Given the description of an element on the screen output the (x, y) to click on. 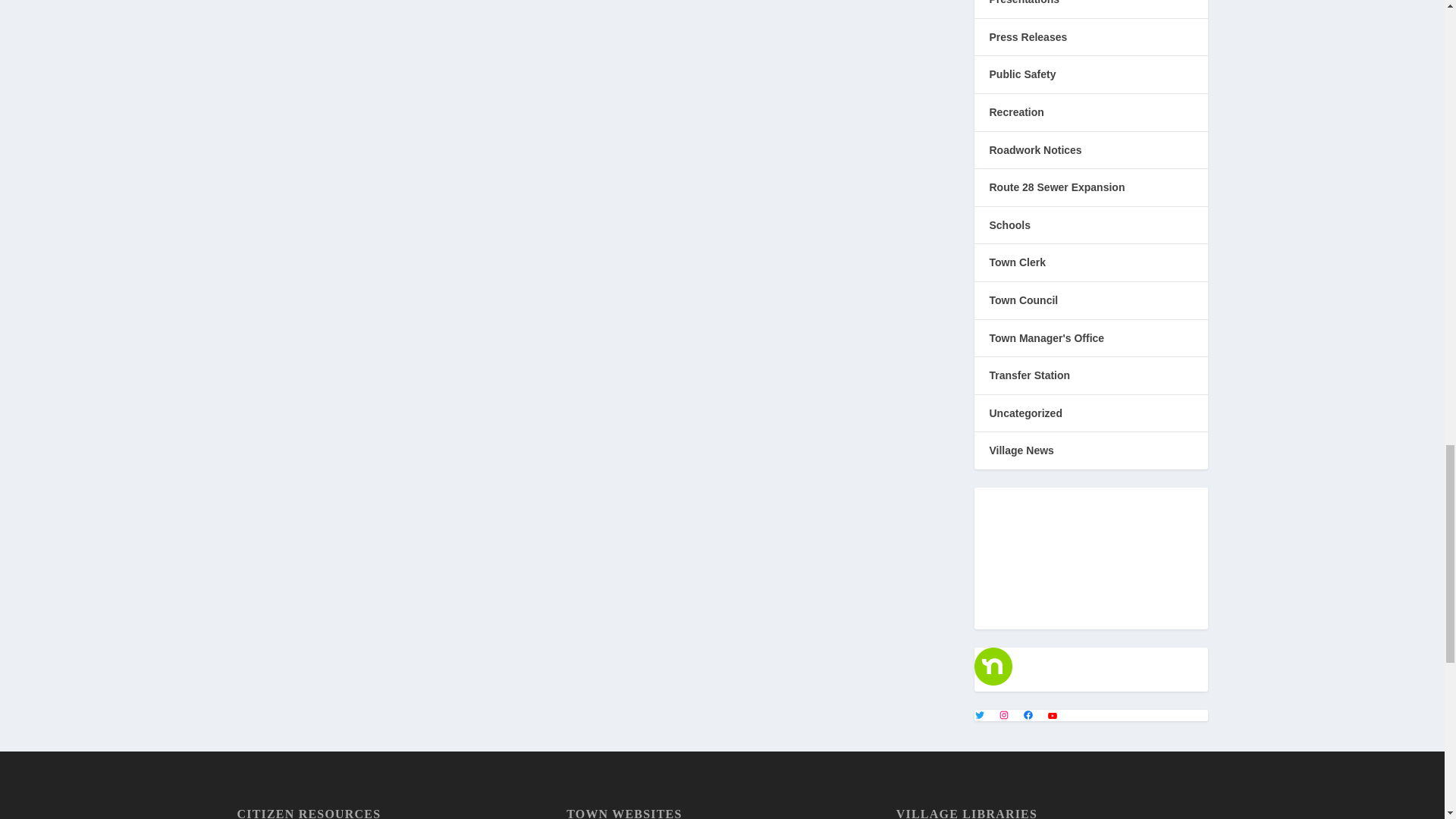
Residential Stormwater (1090, 553)
